Given the description of an element on the screen output the (x, y) to click on. 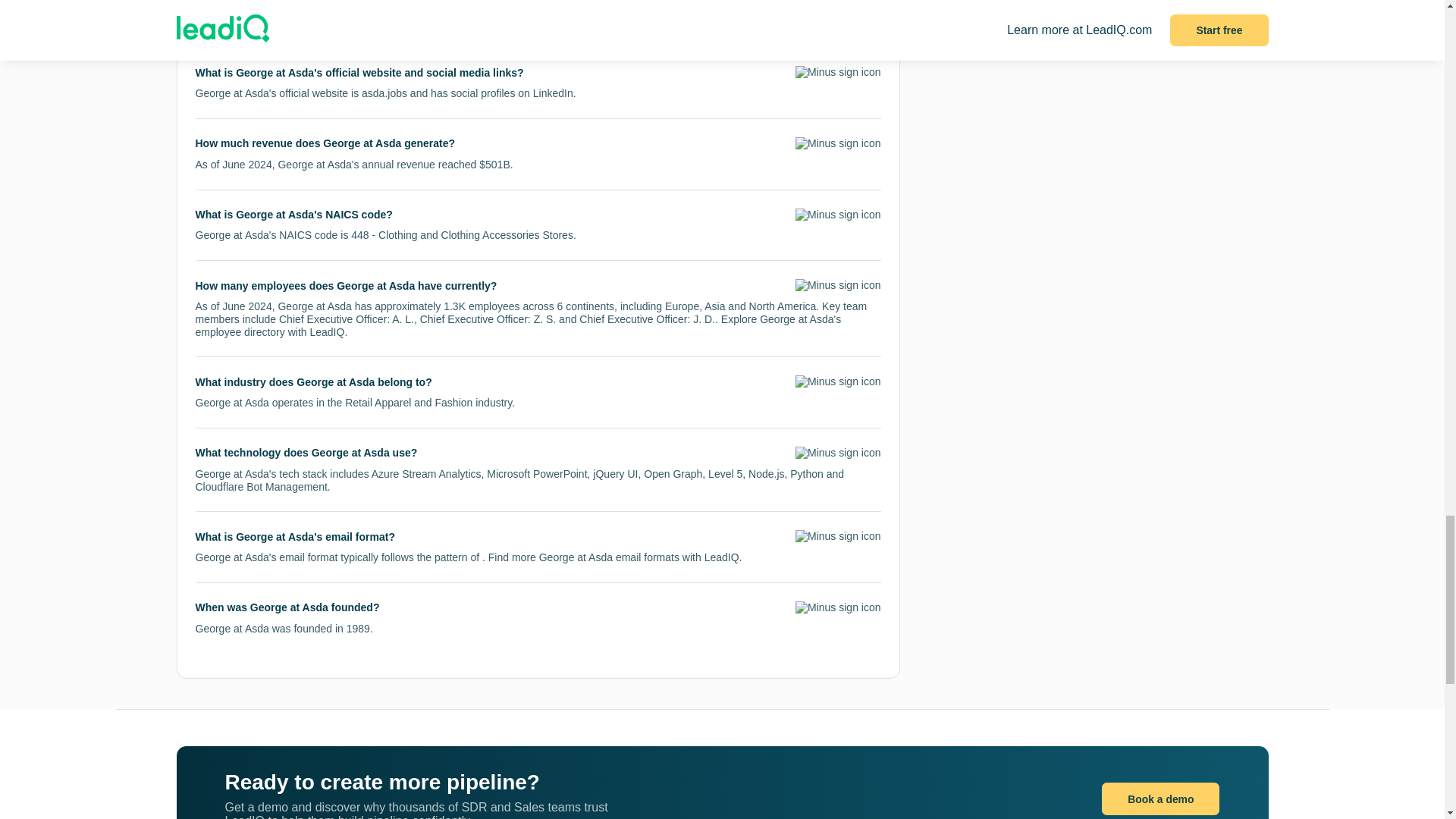
George at Asda's employee directory (518, 325)
asda.jobs (384, 92)
LinkedIn (552, 92)
Find more George at Asda email formats (583, 557)
